Given the description of an element on the screen output the (x, y) to click on. 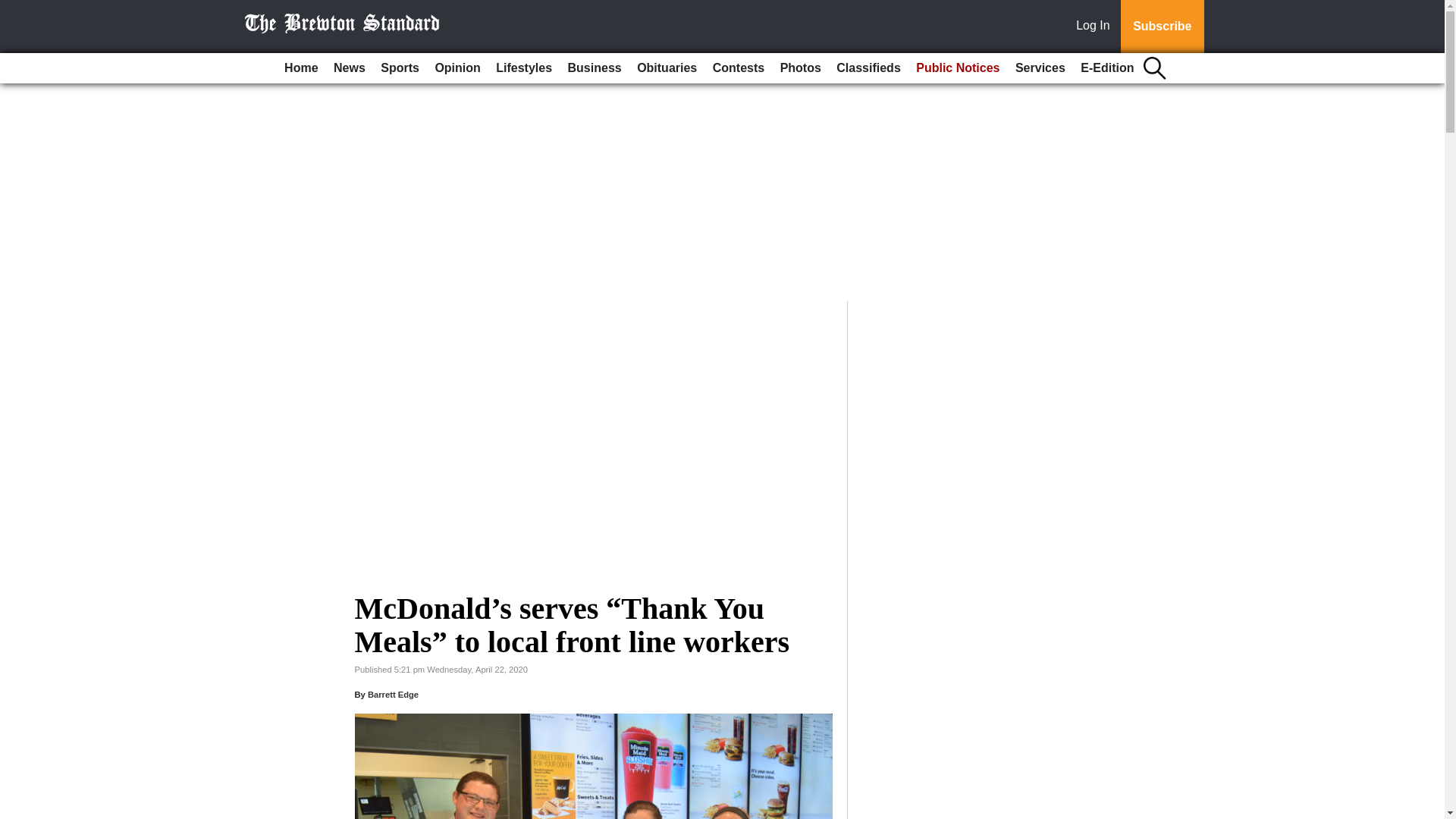
Services (1040, 68)
Subscribe (1162, 26)
Log In (1095, 26)
E-Edition (1107, 68)
Home (300, 68)
Photos (800, 68)
Go (13, 9)
Sports (399, 68)
Contests (738, 68)
Barrett Edge (393, 694)
Classifieds (867, 68)
Opinion (457, 68)
Obituaries (666, 68)
News (349, 68)
Business (594, 68)
